Given the description of an element on the screen output the (x, y) to click on. 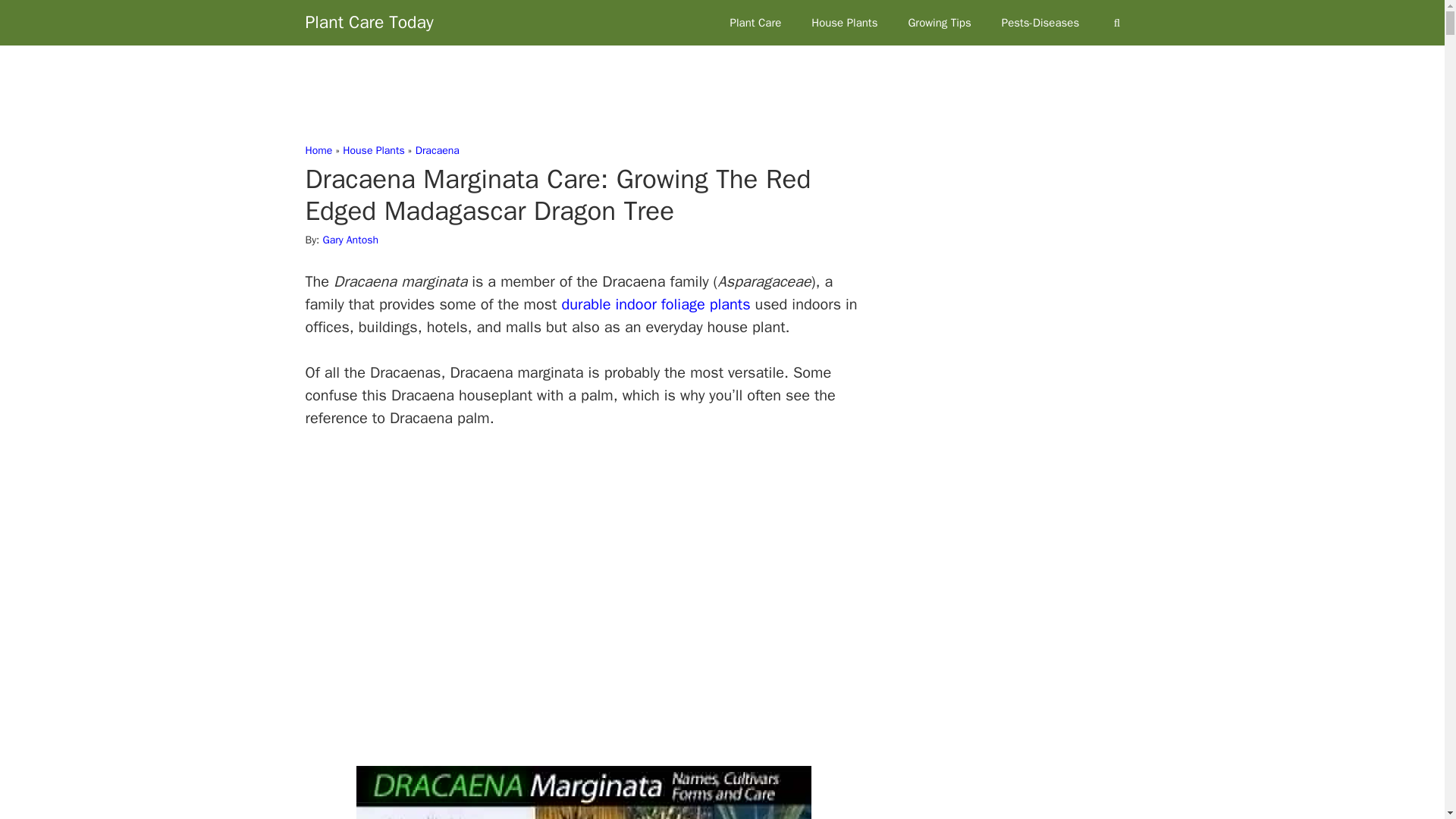
Dracaena (437, 150)
Home (317, 150)
Plant Care Today (368, 22)
Pests-Diseases (1040, 22)
House Plants (373, 150)
House Plants (844, 22)
durable indoor foliage plants (654, 303)
Gary Antosh (349, 239)
Plant Care (755, 22)
Growing Tips (938, 22)
